Given the description of an element on the screen output the (x, y) to click on. 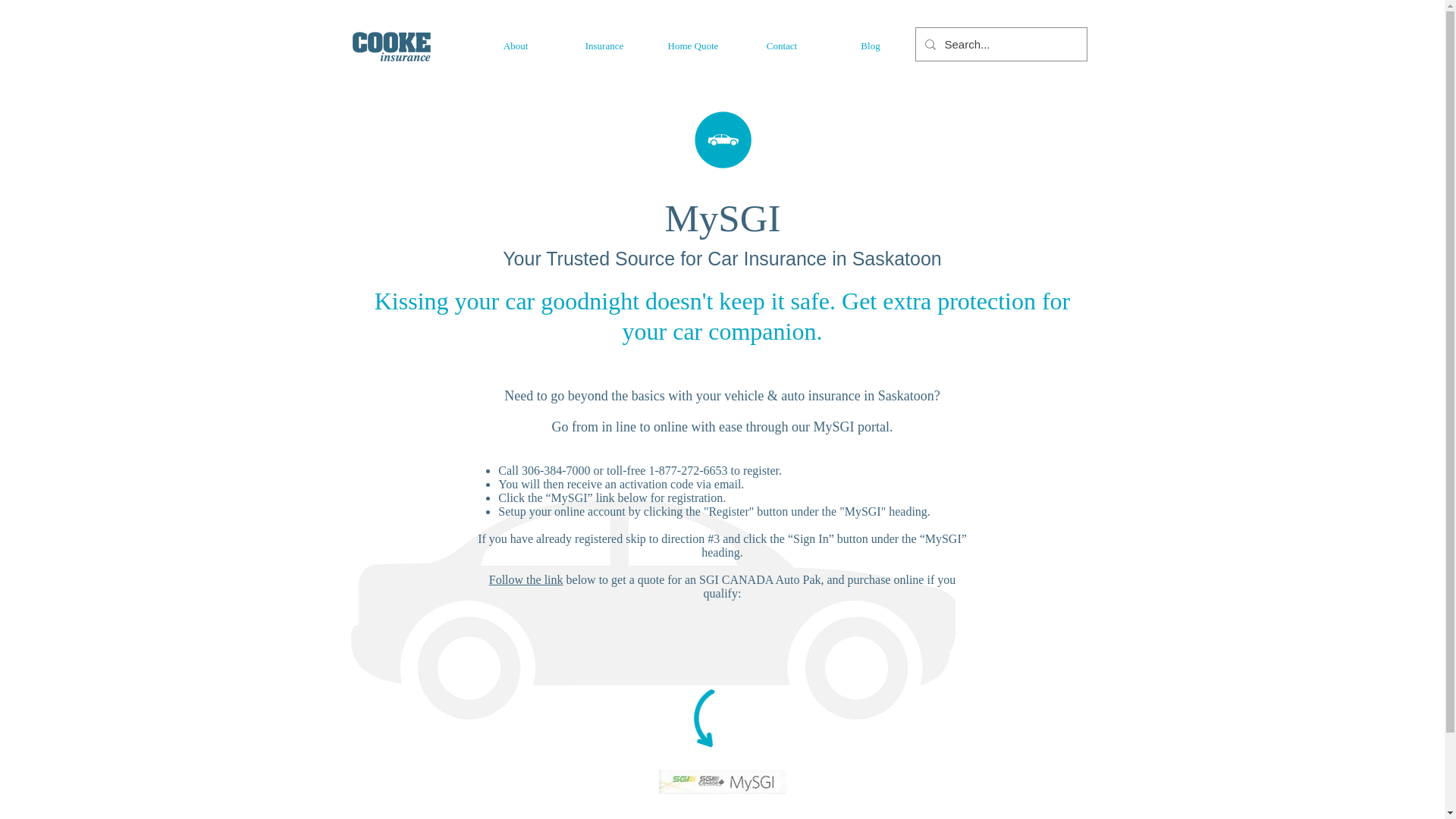
Home Quote (693, 46)
Blog (871, 46)
Follow the link (526, 579)
About (515, 46)
Contact (780, 46)
Insurance (603, 46)
